Given the description of an element on the screen output the (x, y) to click on. 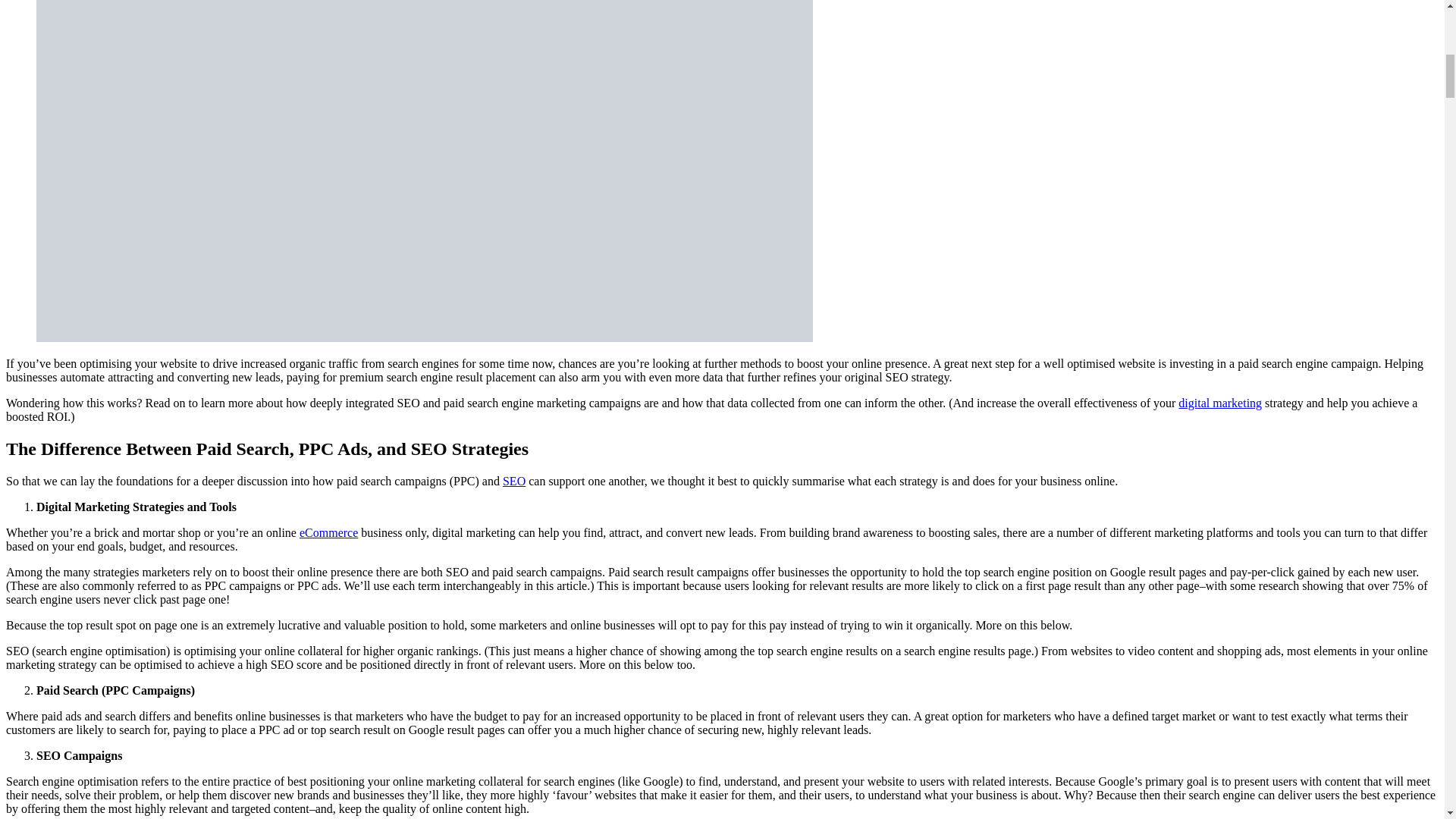
SEO (513, 481)
digital marketing (1219, 402)
eCommerce (328, 532)
